Given the description of an element on the screen output the (x, y) to click on. 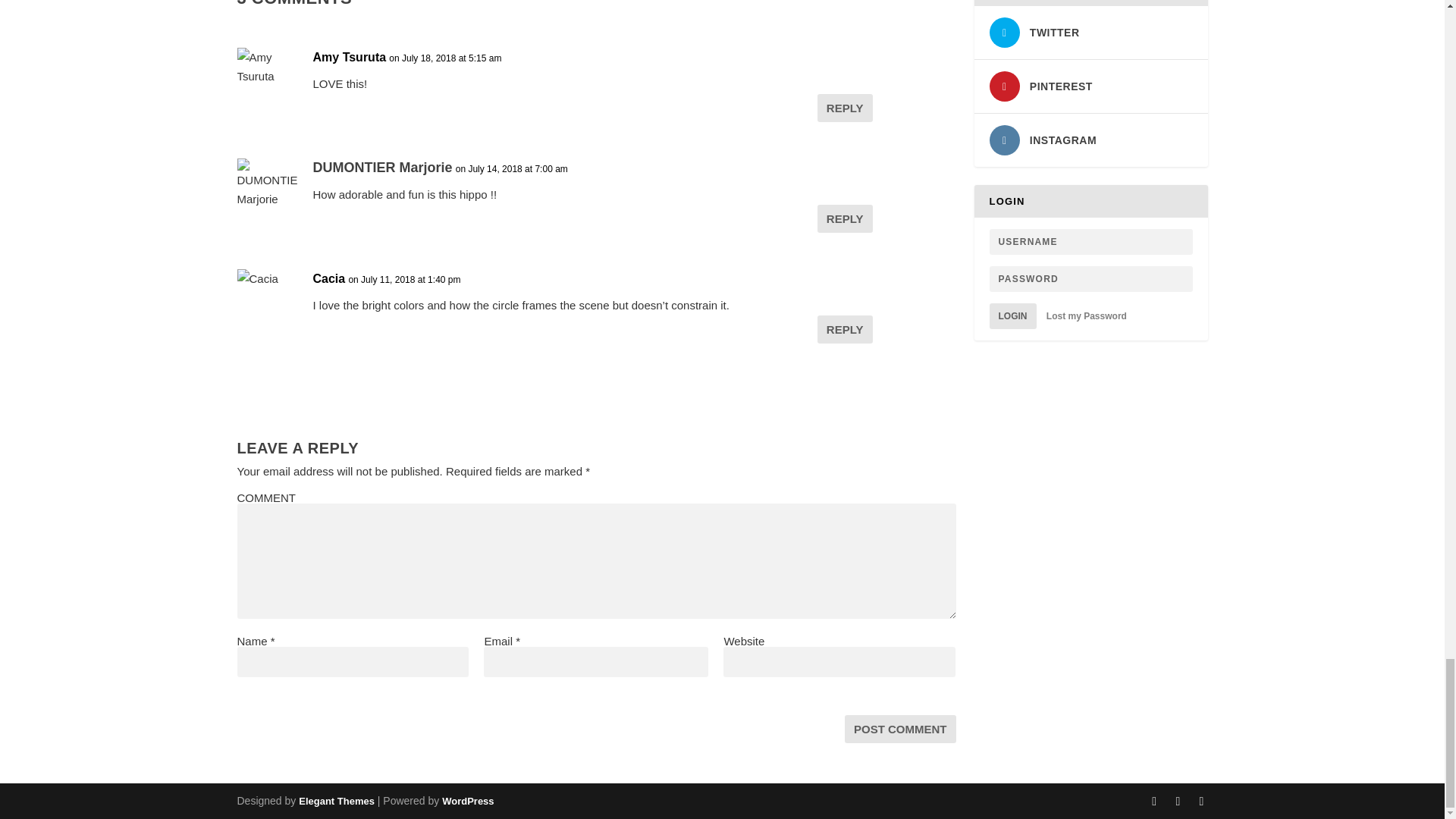
Post Comment (900, 728)
